Given the description of an element on the screen output the (x, y) to click on. 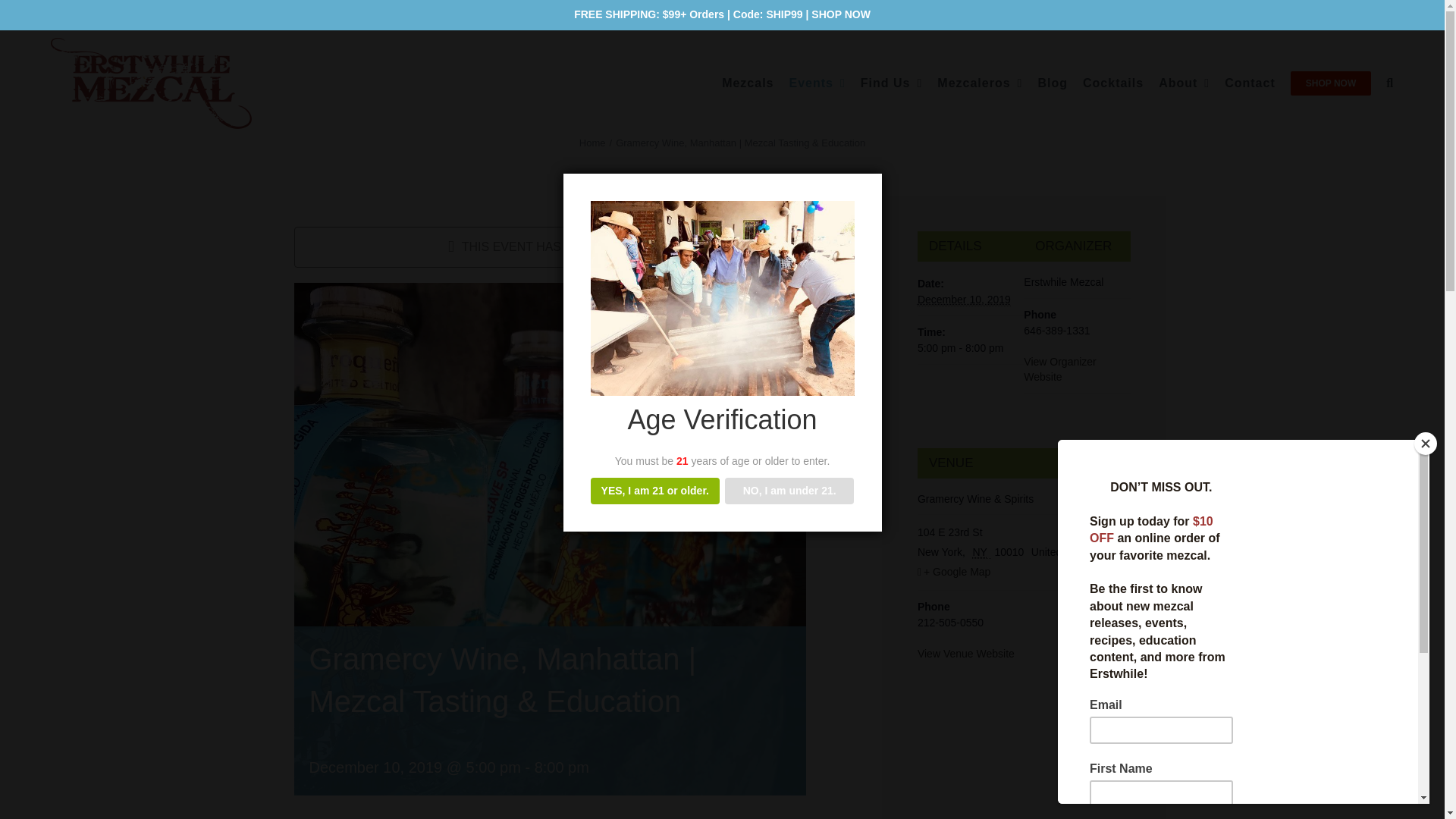
New York (981, 552)
Click to view a Google Map (1024, 571)
2019-12-10 (970, 348)
2019-12-10 (963, 299)
